Given the description of an element on the screen output the (x, y) to click on. 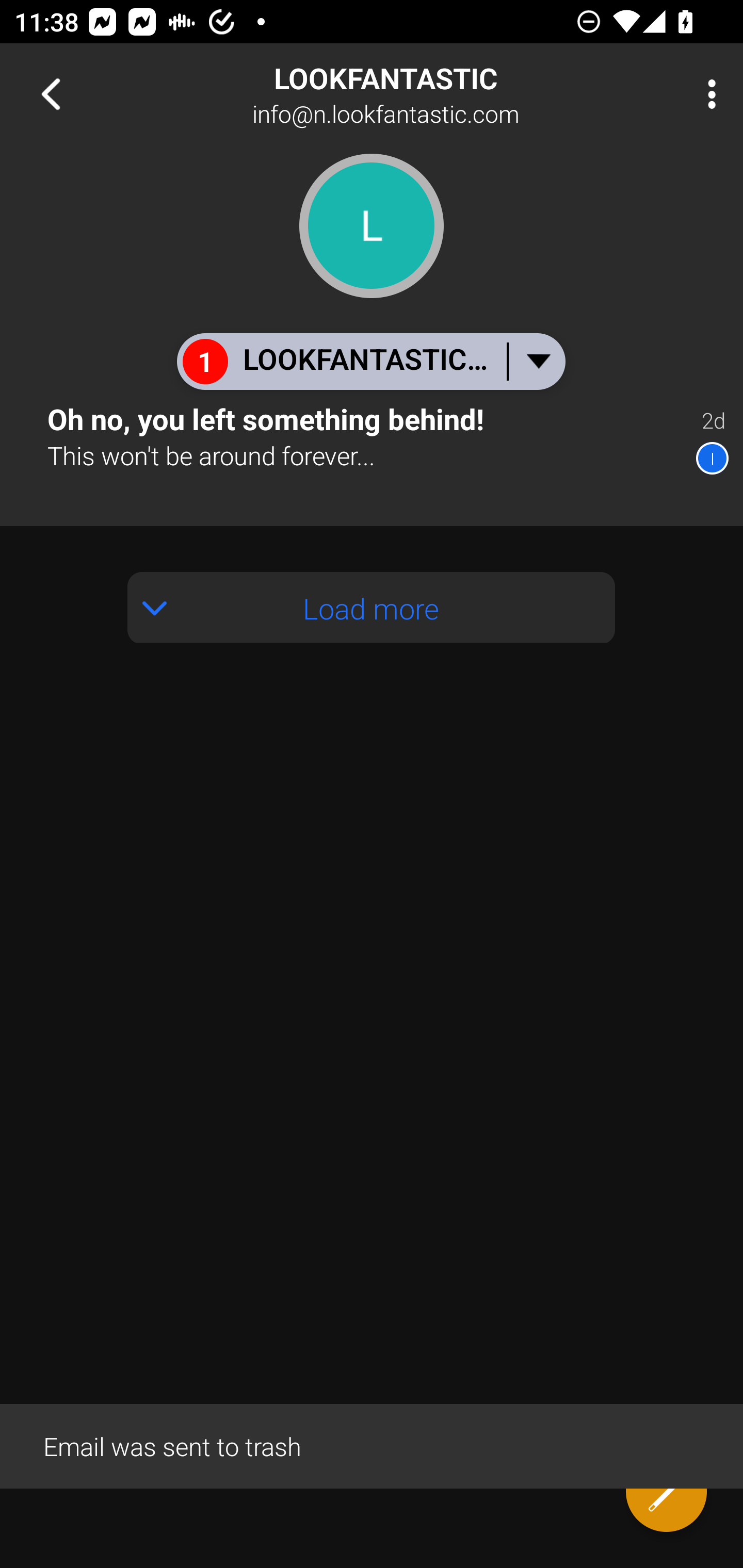
Navigate up (50, 93)
LOOKFANTASTIC info@n.lookfantastic.com (436, 93)
More Options (706, 93)
1 LOOKFANTASTIC & You (370, 361)
Load more (371, 607)
Email was sent to trash (371, 1445)
